Given the description of an element on the screen output the (x, y) to click on. 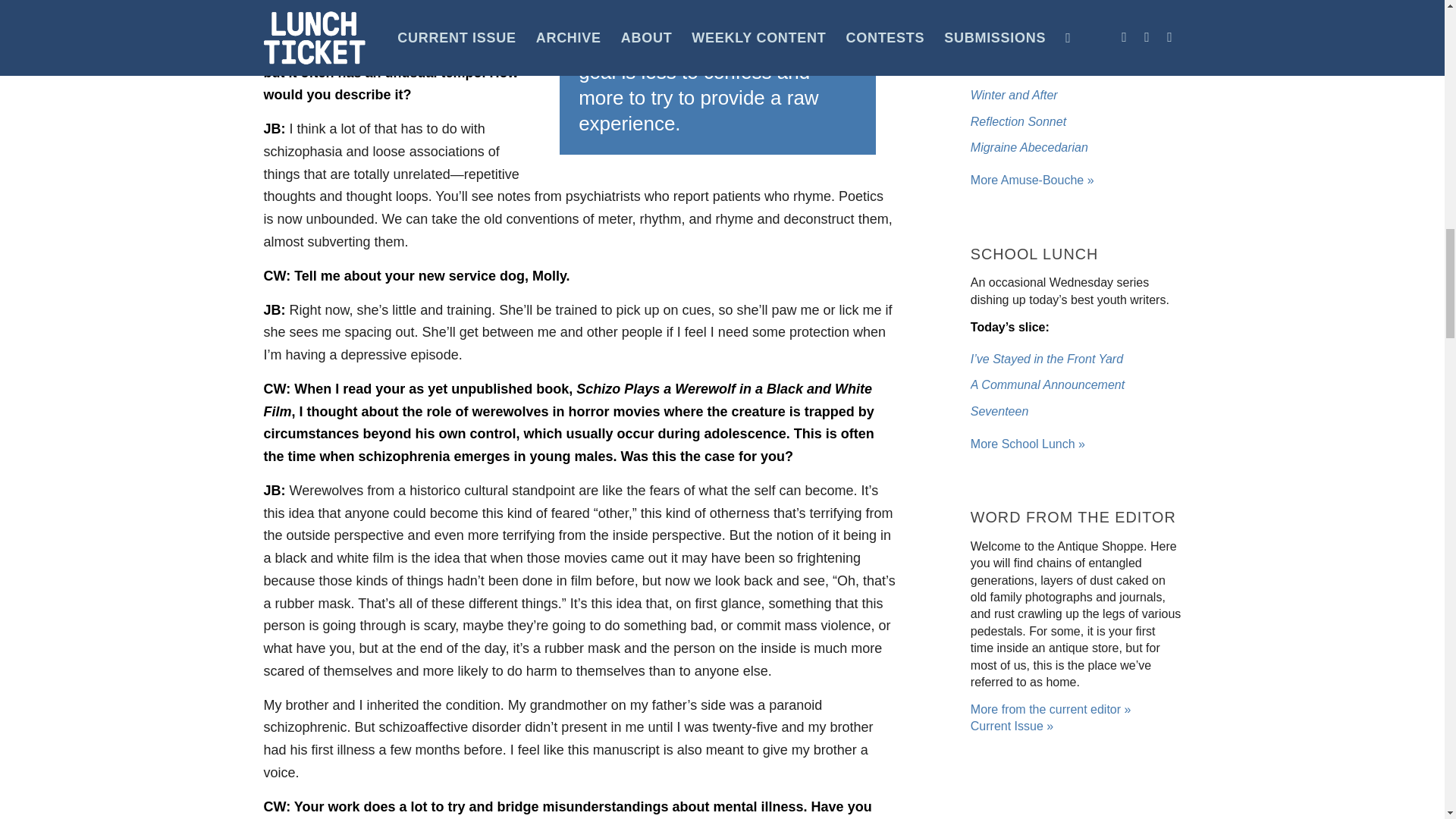
Permanent Link: Reflection Sonnet (1018, 121)
Permanent Link: Winter and After (1014, 94)
Welcome to Lunch Ticket (1032, 179)
Permanent Link: Migraine Abecedarian (1029, 146)
